Given the description of an element on the screen output the (x, y) to click on. 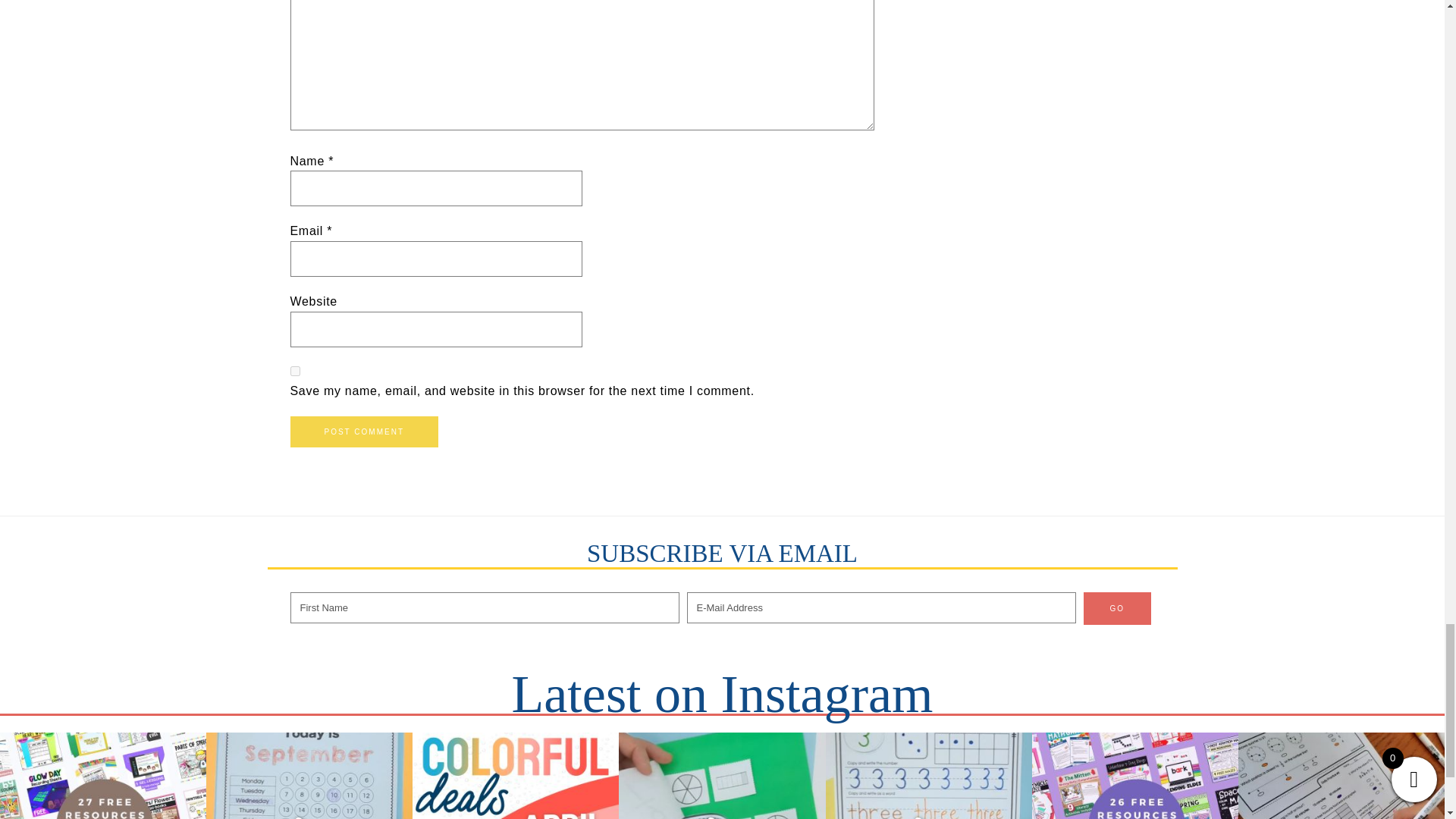
Post Comment (363, 431)
yes (294, 370)
Go (1117, 608)
